Given the description of an element on the screen output the (x, y) to click on. 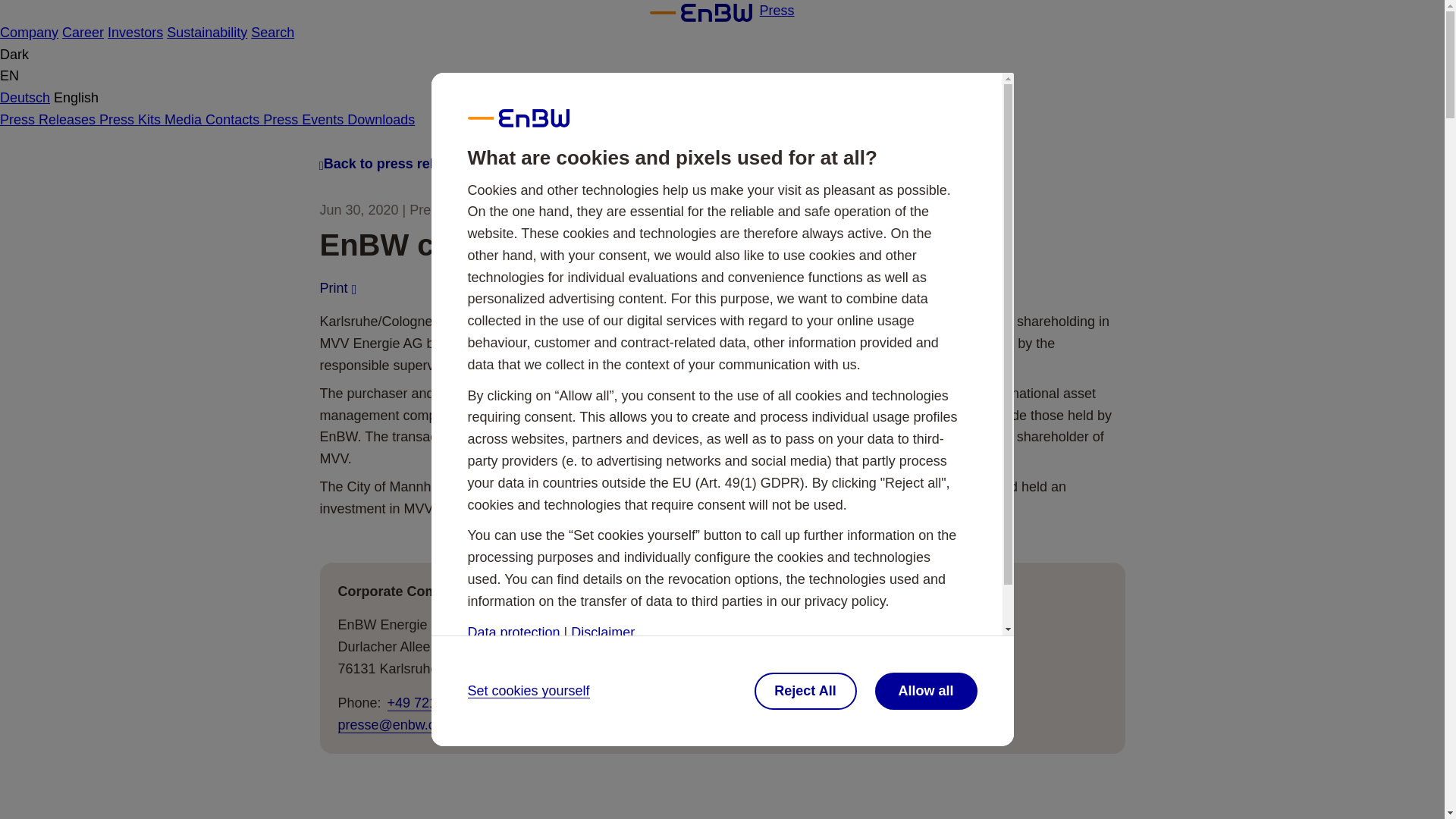
Set cookies yourself (528, 690)
Back to press releases (397, 163)
Allow all (925, 691)
Disclaimer (602, 632)
Data protection (513, 632)
Print (329, 287)
Reject All (805, 691)
